Given the description of an element on the screen output the (x, y) to click on. 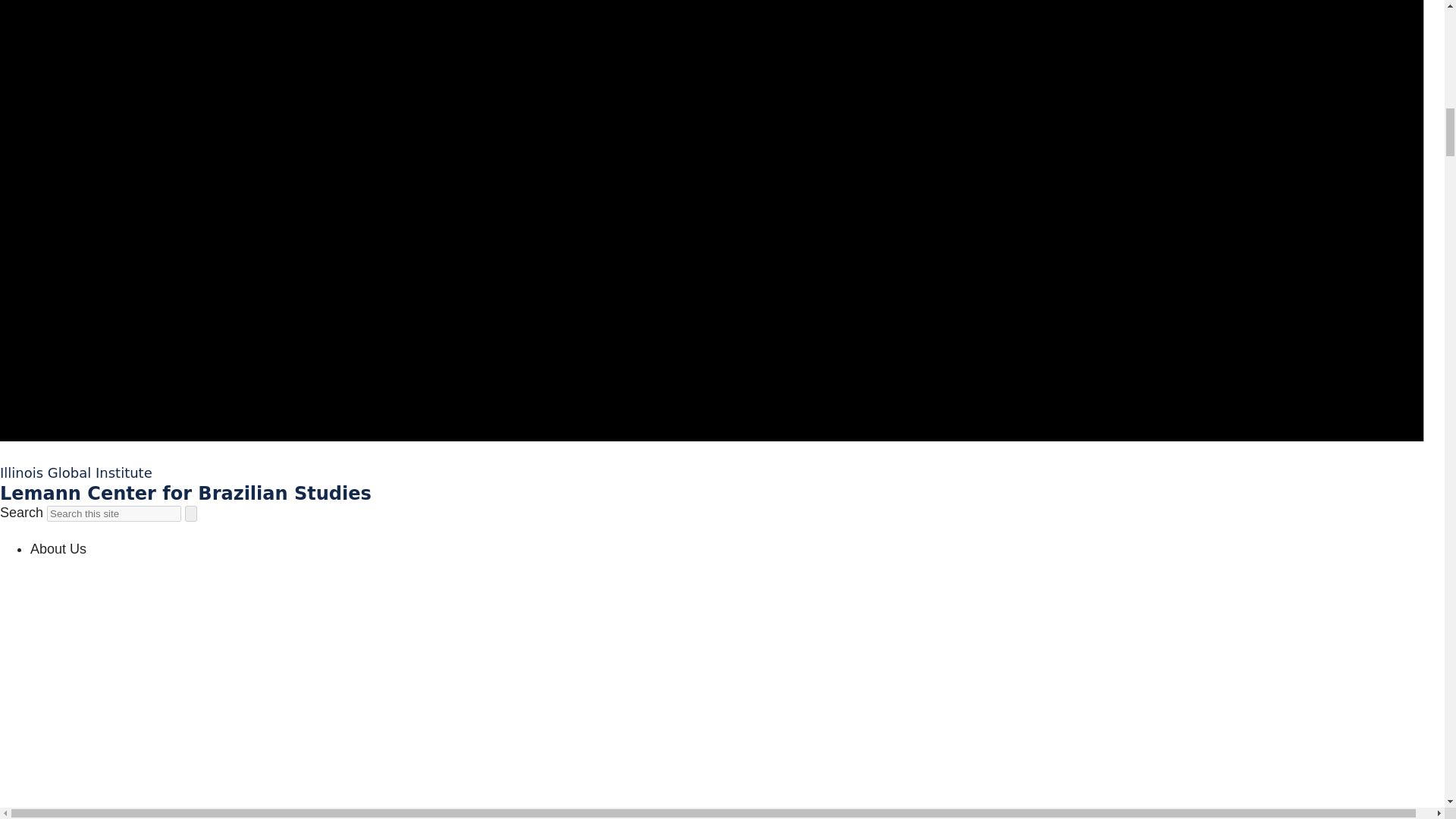
Illinois Global Institute (76, 472)
About Us (57, 548)
Lemann Center for Brazilian Studies (185, 493)
